Given the description of an element on the screen output the (x, y) to click on. 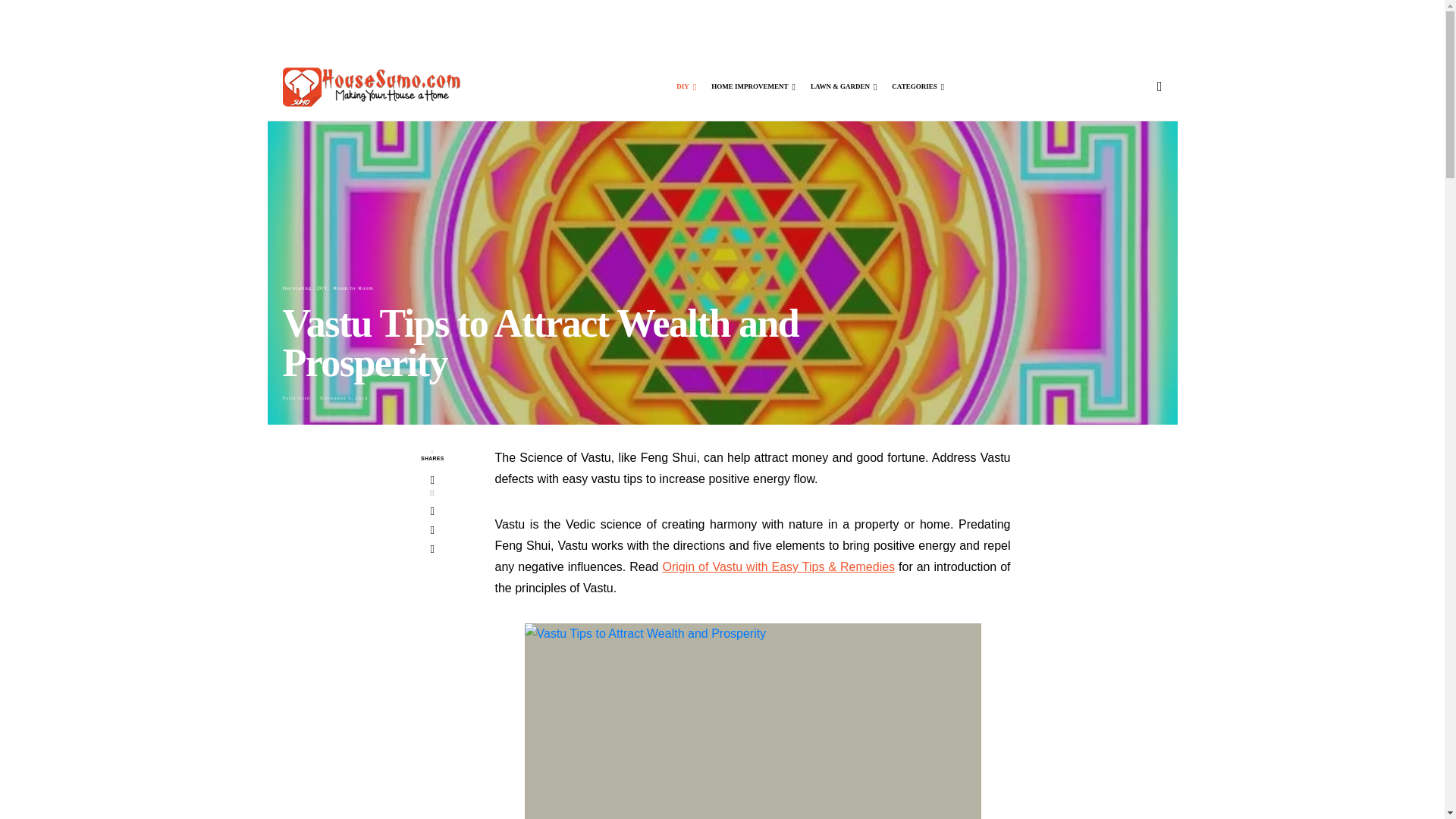
DIY (686, 86)
View all posts by Perla Irish (296, 396)
Vastu Tips to Attract Wealth and Prosperity (752, 721)
